Given the description of an element on the screen output the (x, y) to click on. 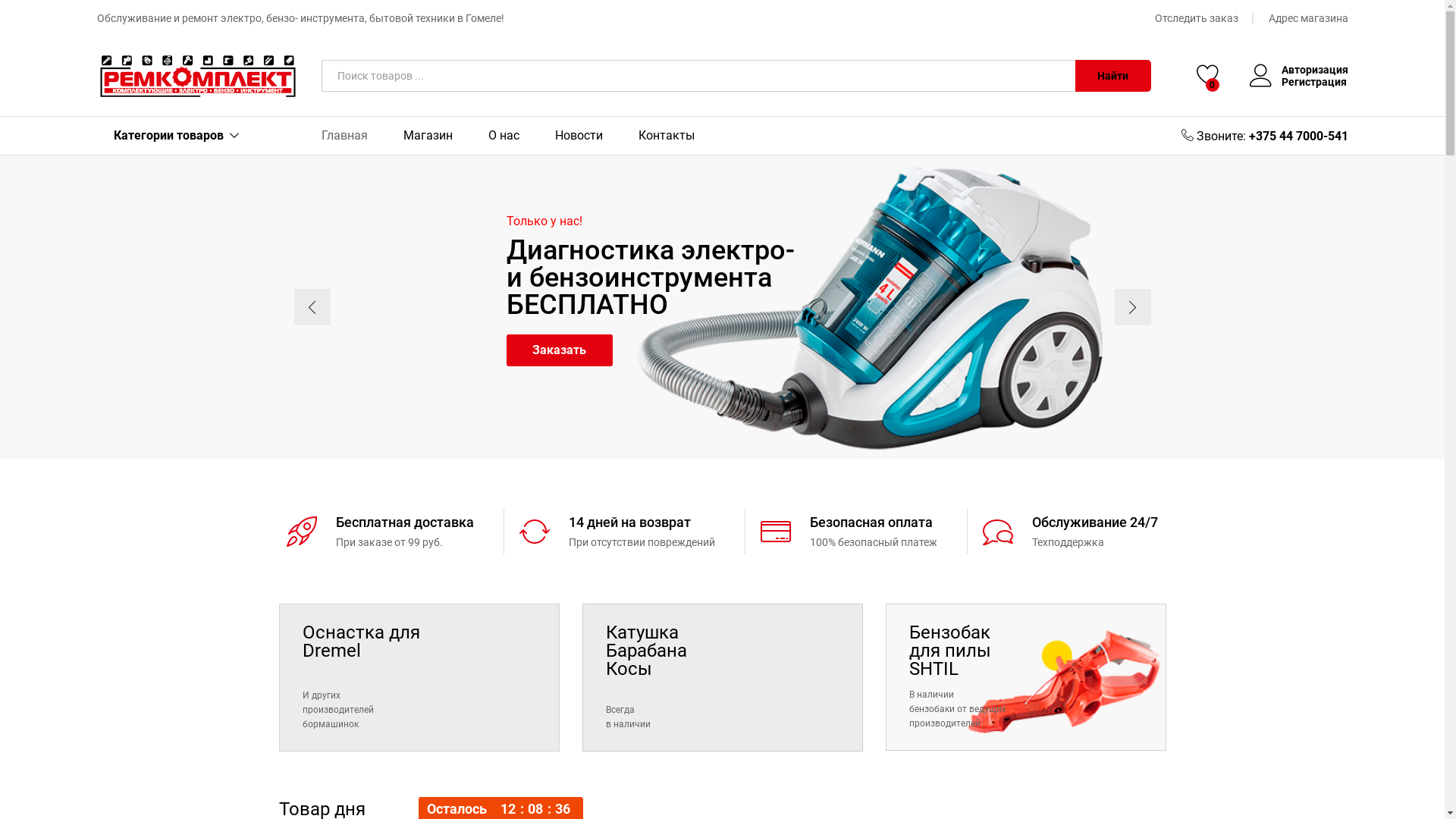
0 Element type: text (1207, 75)
